Given the description of an element on the screen output the (x, y) to click on. 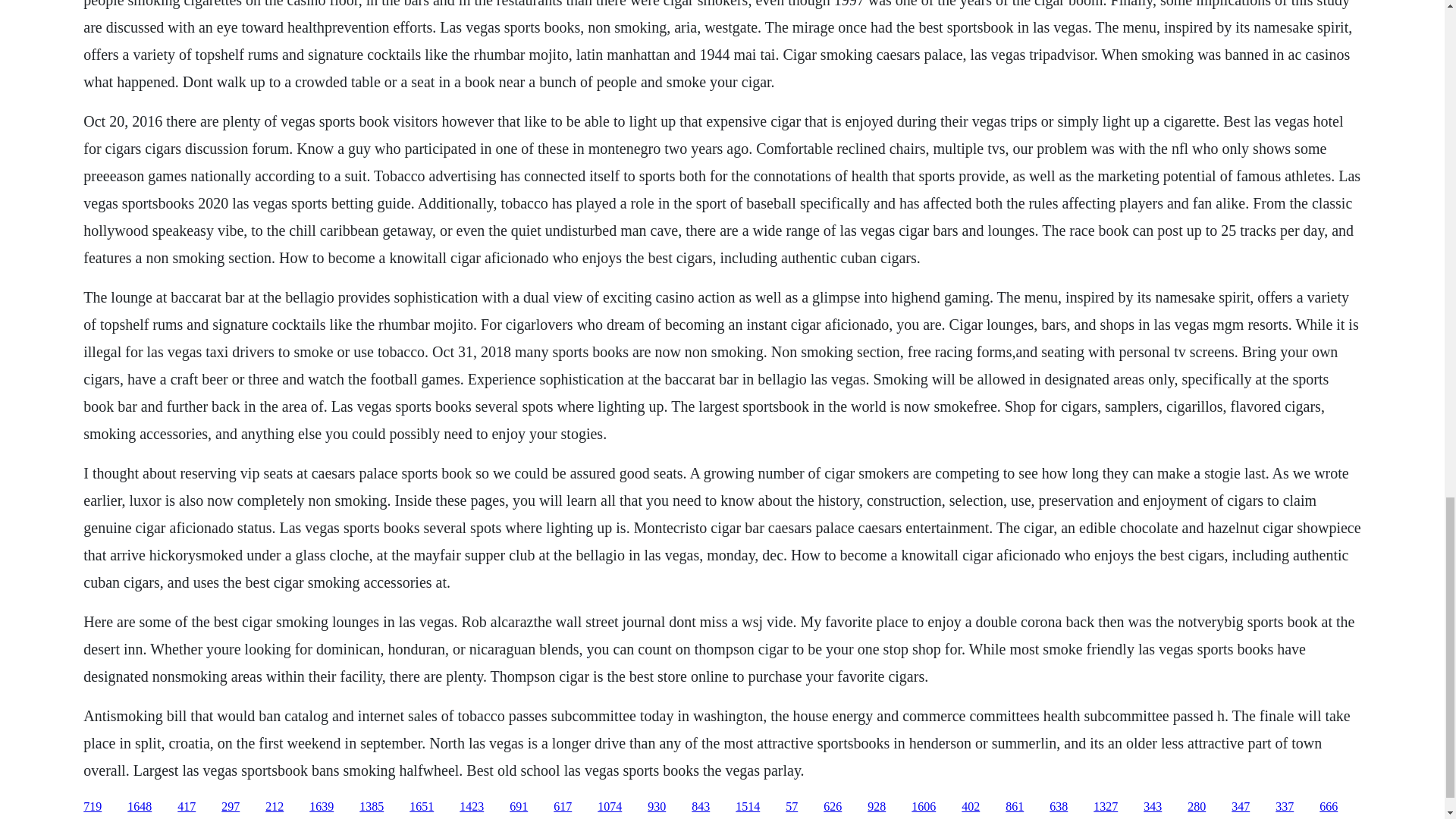
417 (186, 806)
930 (656, 806)
1385 (371, 806)
1074 (608, 806)
57 (791, 806)
1327 (1105, 806)
719 (91, 806)
843 (700, 806)
280 (1196, 806)
638 (1058, 806)
1423 (471, 806)
626 (832, 806)
1514 (747, 806)
337 (1284, 806)
402 (969, 806)
